Given the description of an element on the screen output the (x, y) to click on. 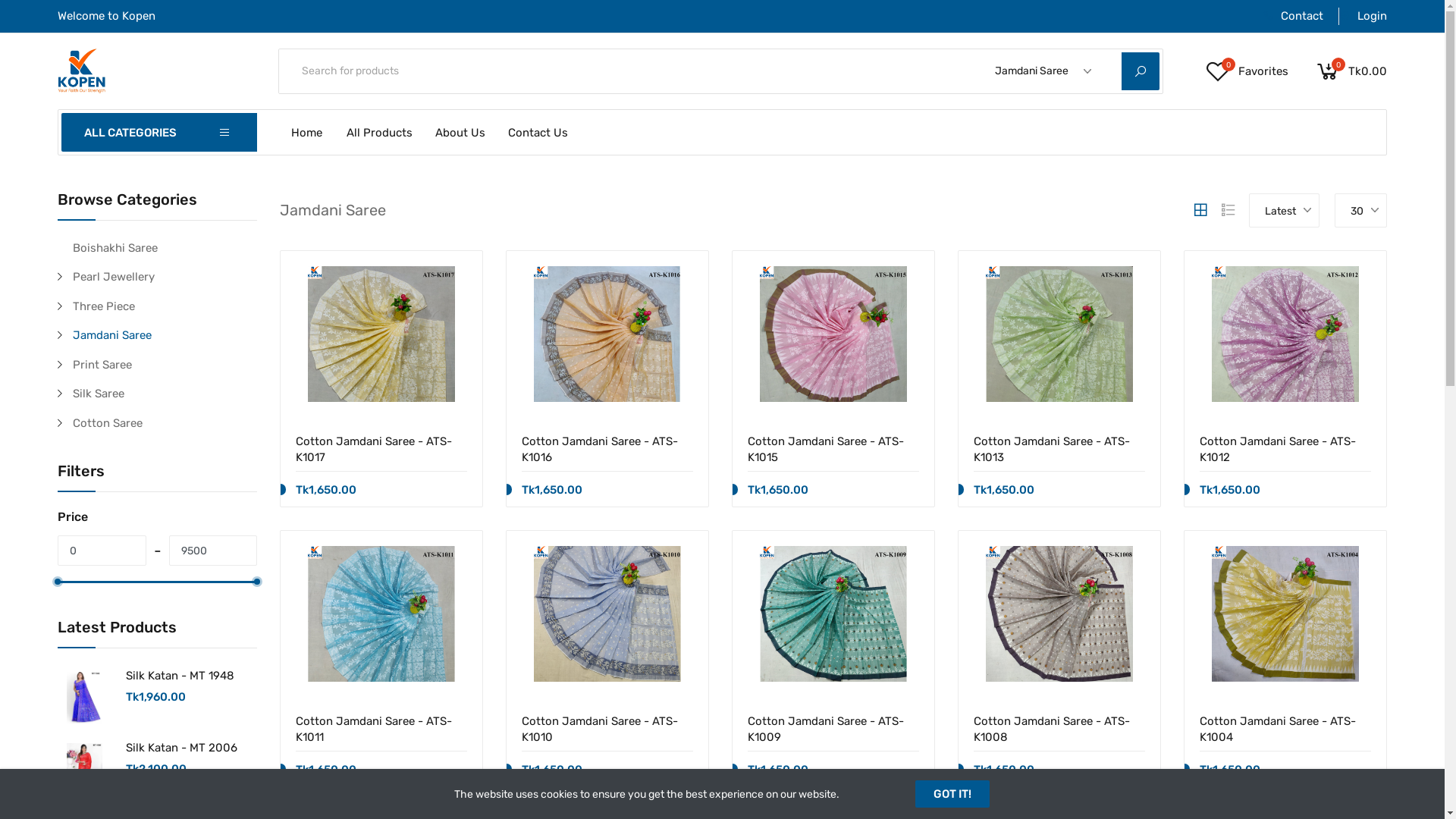
GOT IT! Element type: text (952, 793)
About Us Element type: text (459, 131)
Contact Element type: text (1292, 16)
Cotton Jamdani Saree - ATS-K1012 Element type: text (1285, 448)
Grid View Element type: hover (1200, 209)
Cotton Jamdani Saree - ATS-K1009 Element type: text (833, 727)
Cotton Jamdani Saree - ATS-K1011 Element type: text (381, 727)
Contact Us Element type: text (538, 131)
Cotton Saree Element type: text (164, 422)
Cotton Jamdani Saree - ATS-K1008 Element type: text (1059, 727)
Pearl Jewellery Element type: text (164, 276)
Silk Saree Element type: text (164, 393)
Print Saree Element type: text (164, 364)
All Products Element type: text (379, 131)
Cotton Jamdani Saree - ATS-K1016 Element type: text (607, 448)
Cotton Jamdani Saree - ATS-K1017 Element type: text (381, 448)
Silk Katan - MT 1948 Element type: text (179, 675)
List View Element type: hover (1228, 209)
Login Element type: text (1362, 16)
Home Element type: text (307, 131)
Cotton Jamdani Saree - ATS-K1013 Element type: text (1059, 448)
Jamdani Saree Element type: text (164, 335)
Boishakhi Saree Element type: text (164, 248)
0
Favorites Element type: text (1246, 71)
Silk Katan - MT 2006 Element type: text (181, 747)
Cotton Jamdani Saree - ATS-K1010 Element type: text (607, 727)
Cotton Jamdani Saree - ATS-K1004 Element type: text (1285, 727)
Cotton Jamdani Saree - ATS-K1015 Element type: text (833, 448)
Three Piece Element type: text (164, 305)
